Given the description of an element on the screen output the (x, y) to click on. 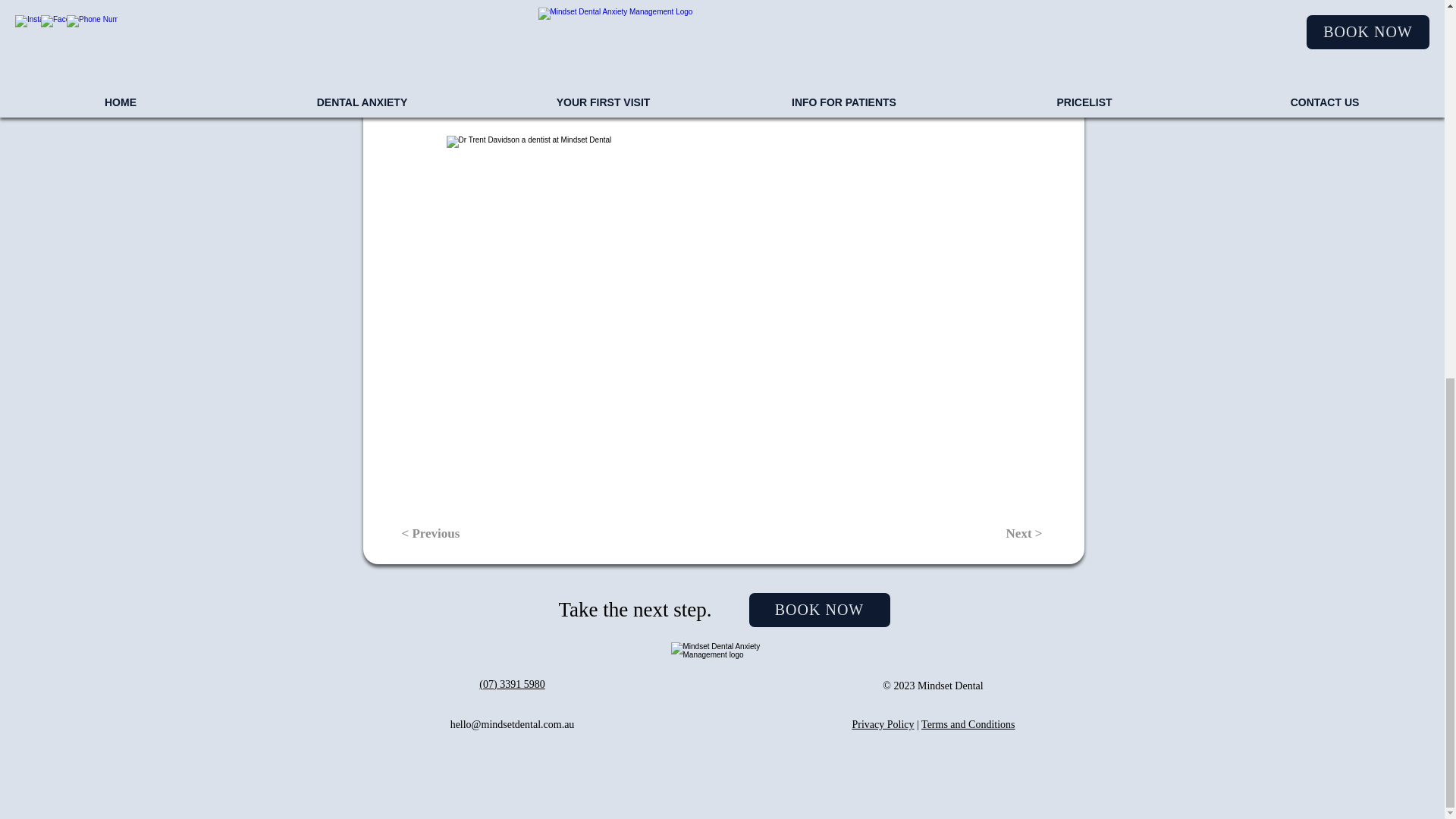
Terms and Conditions (967, 724)
Privacy Policy (882, 724)
BOOK NOW (819, 609)
